Given the description of an element on the screen output the (x, y) to click on. 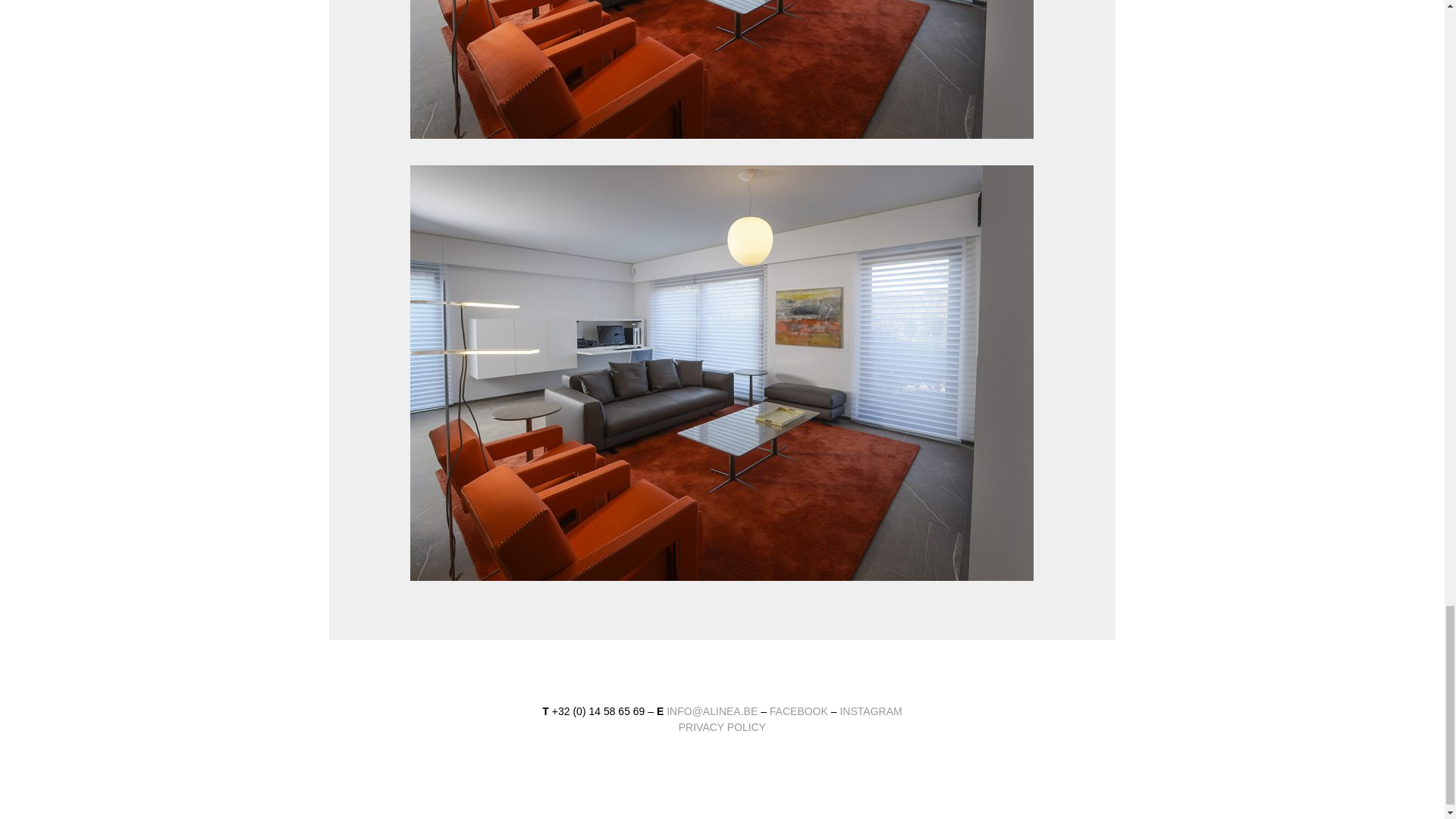
PRIVACY POLICY (721, 727)
INSTAGRAM (870, 711)
FACEBOOK (800, 711)
